Given the description of an element on the screen output the (x, y) to click on. 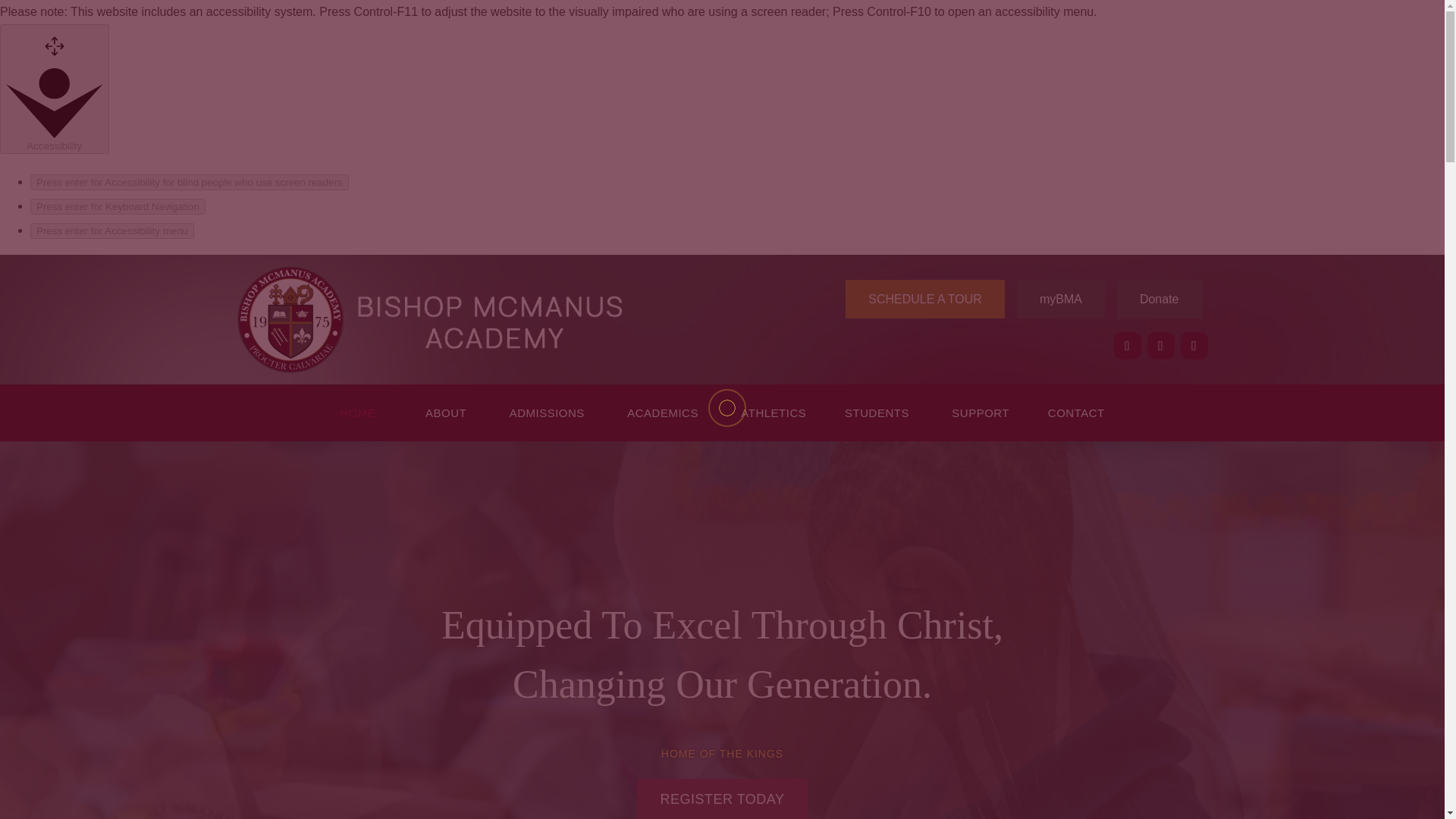
ATHLETICS (773, 415)
HOME (363, 415)
SCHEDULE A TOUR (924, 299)
Follow on Youtube (1193, 345)
myBMA (1060, 299)
ACADEMICS (664, 415)
Follow on Facebook (1126, 345)
ADMISSIONS (548, 415)
STUDENTS (879, 415)
CONTACT (1075, 415)
